Given the description of an element on the screen output the (x, y) to click on. 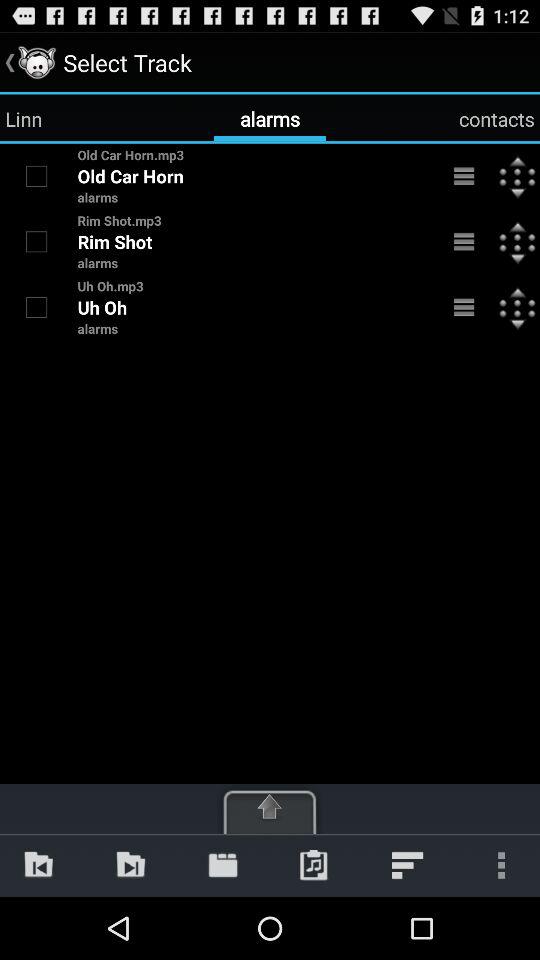
select track (36, 241)
